Given the description of an element on the screen output the (x, y) to click on. 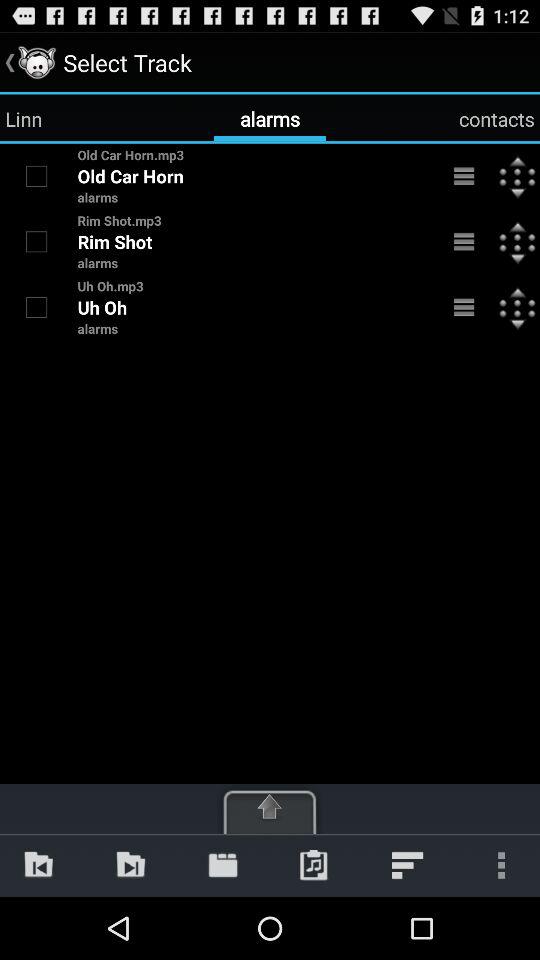
select track (36, 241)
